Given the description of an element on the screen output the (x, y) to click on. 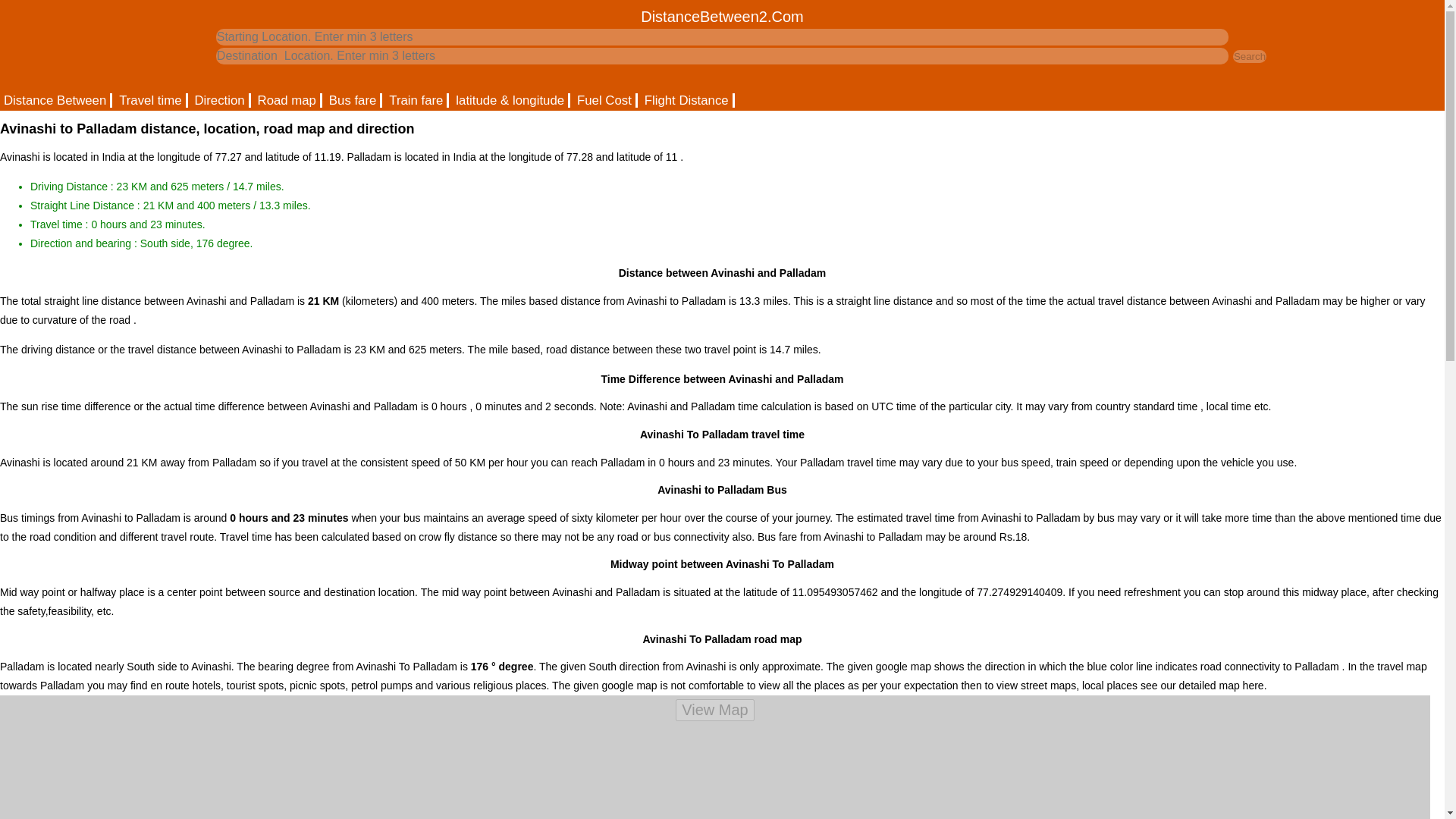
Bus fare (353, 100)
Search (1249, 56)
Distance Between (56, 100)
Road map (287, 100)
Fuel Cost (605, 100)
Train fare (416, 100)
Travel time (151, 100)
Search (1249, 56)
Direction (220, 100)
View Map (714, 710)
driving direction (220, 100)
Flight Distance (687, 100)
